Given the description of an element on the screen output the (x, y) to click on. 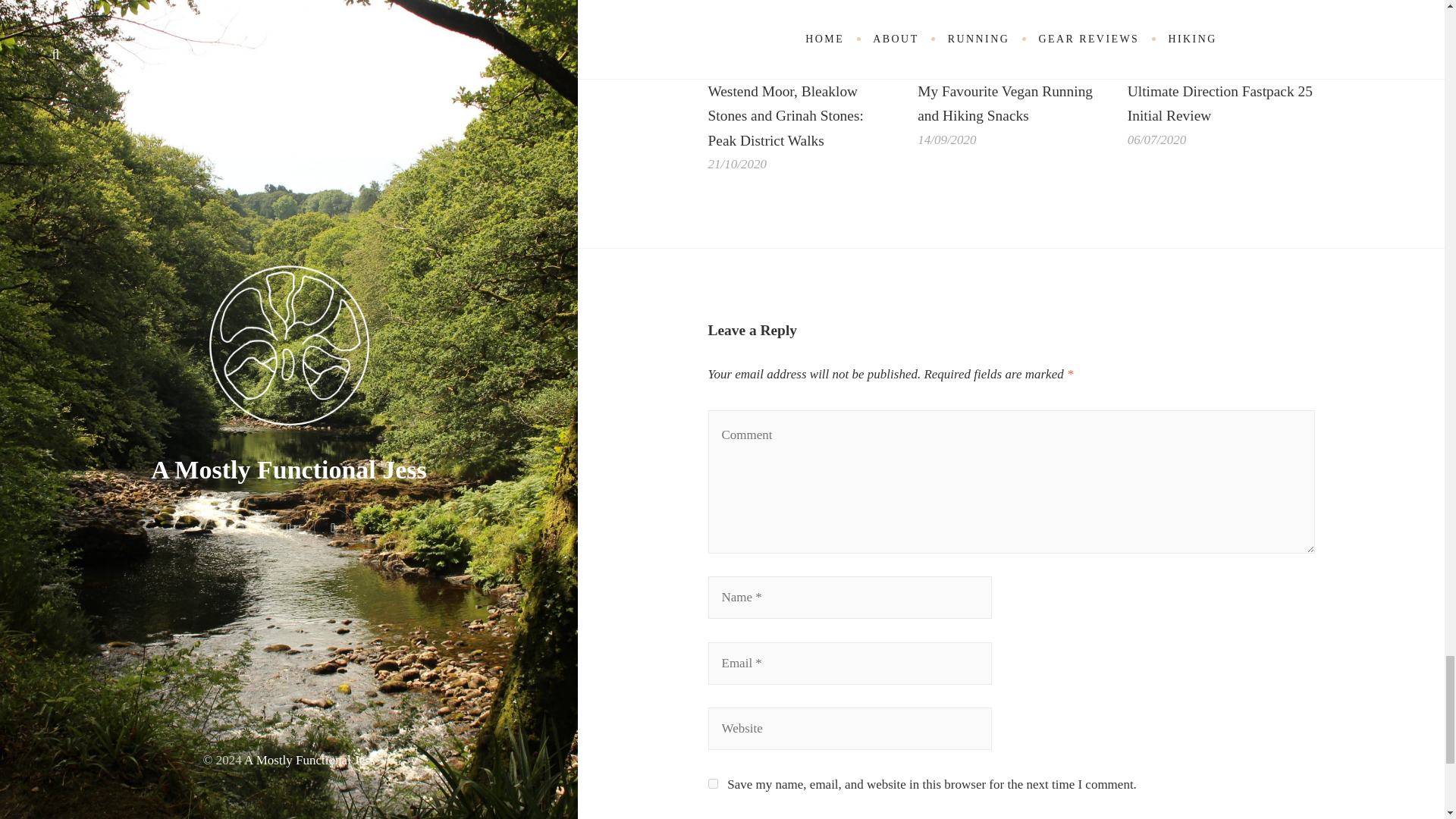
Ultimate Direction Fastpack 25 Initial Review (1219, 103)
My Favourite Vegan Running and Hiking Snacks (1005, 103)
Ultimate Direction Fastpack 25 Initial Review (1220, 33)
yes (712, 783)
My Favourite Vegan Running and Hiking Snacks (1005, 103)
My Favourite Vegan Running and Hiking Snacks (1011, 33)
